Given the description of an element on the screen output the (x, y) to click on. 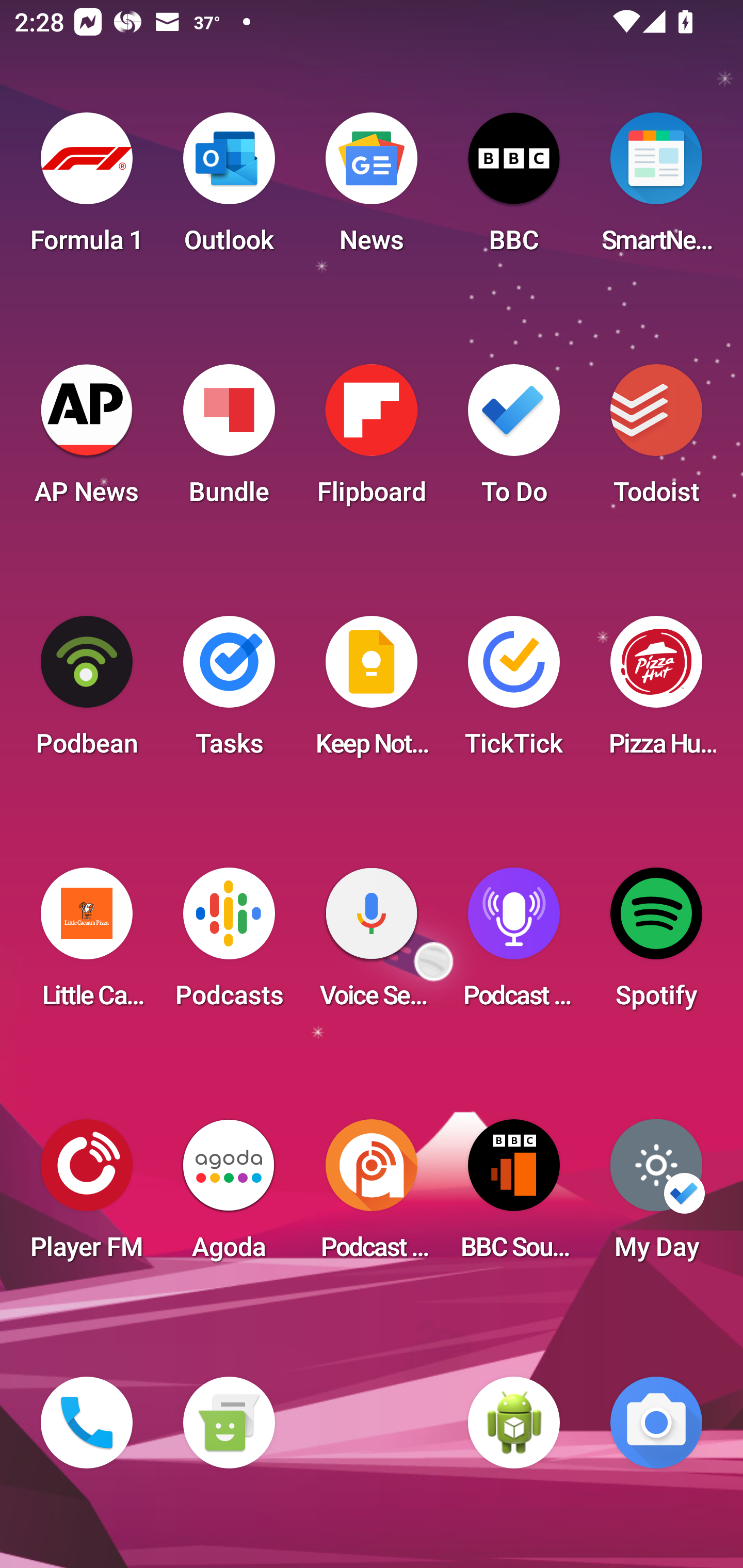
Formula 1 (86, 188)
Outlook (228, 188)
News (371, 188)
BBC (513, 188)
SmartNews (656, 188)
AP News (86, 440)
Bundle (228, 440)
Flipboard (371, 440)
To Do (513, 440)
Todoist (656, 440)
Podbean (86, 692)
Tasks (228, 692)
Keep Notes (371, 692)
TickTick (513, 692)
Pizza Hut HK & Macau (656, 692)
Little Caesars Pizza (86, 943)
Podcasts (228, 943)
Voice Search (371, 943)
Podcast Player (513, 943)
Spotify (656, 943)
Player FM (86, 1195)
Agoda (228, 1195)
Podcast Addict (371, 1195)
BBC Sounds (513, 1195)
My Day (656, 1195)
Phone (86, 1422)
Messaging (228, 1422)
WebView Browser Tester (513, 1422)
Camera (656, 1422)
